Given the description of an element on the screen output the (x, y) to click on. 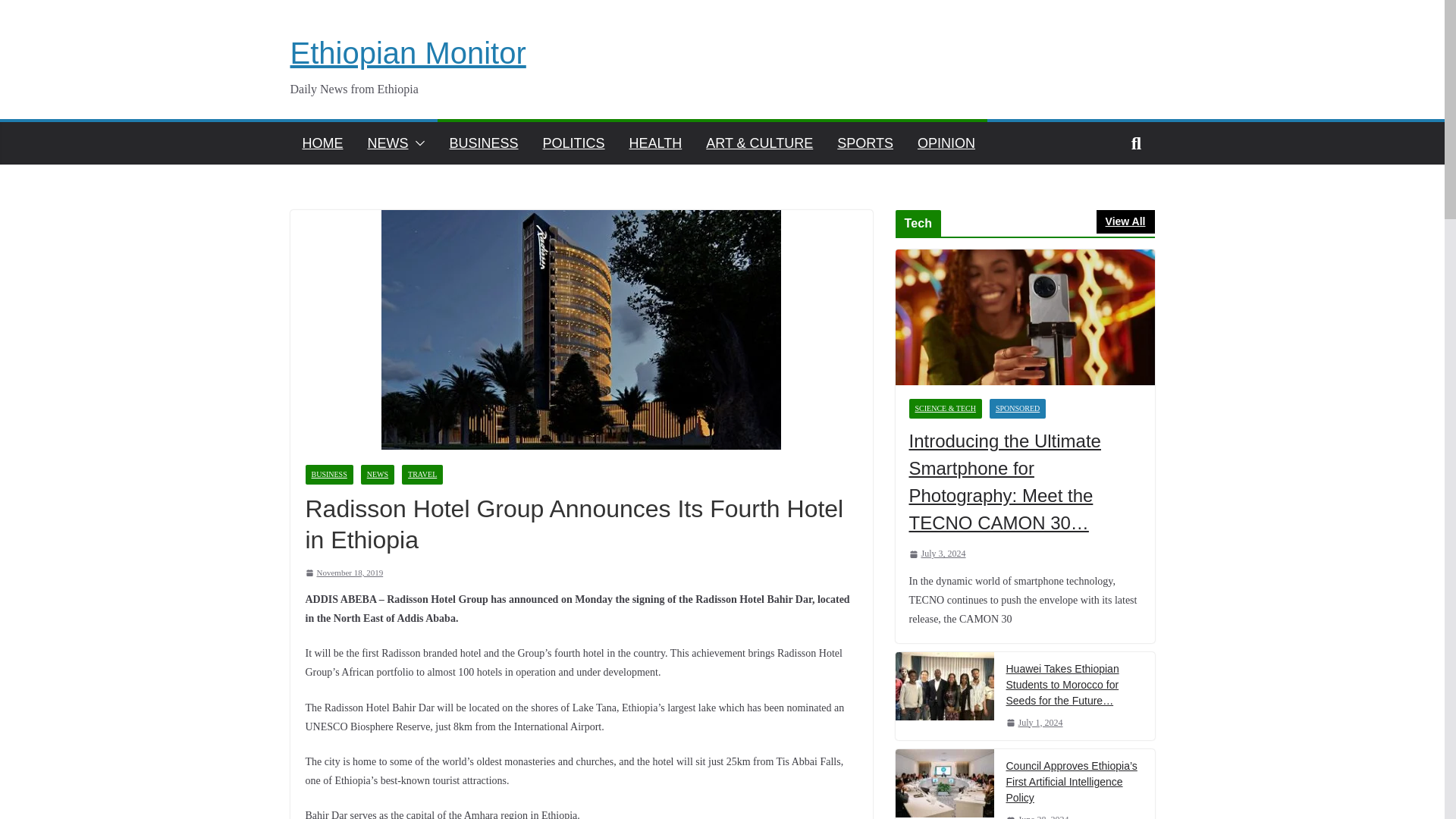
SPORTS (865, 143)
View All (1125, 221)
12:30 am (936, 554)
1:20 pm (343, 572)
HOME (321, 143)
TRAVEL (421, 474)
NEWS (386, 143)
HEALTH (655, 143)
BUSINESS (328, 474)
OPINION (946, 143)
Ethiopian Monitor (407, 52)
POLITICS (574, 143)
